Given the description of an element on the screen output the (x, y) to click on. 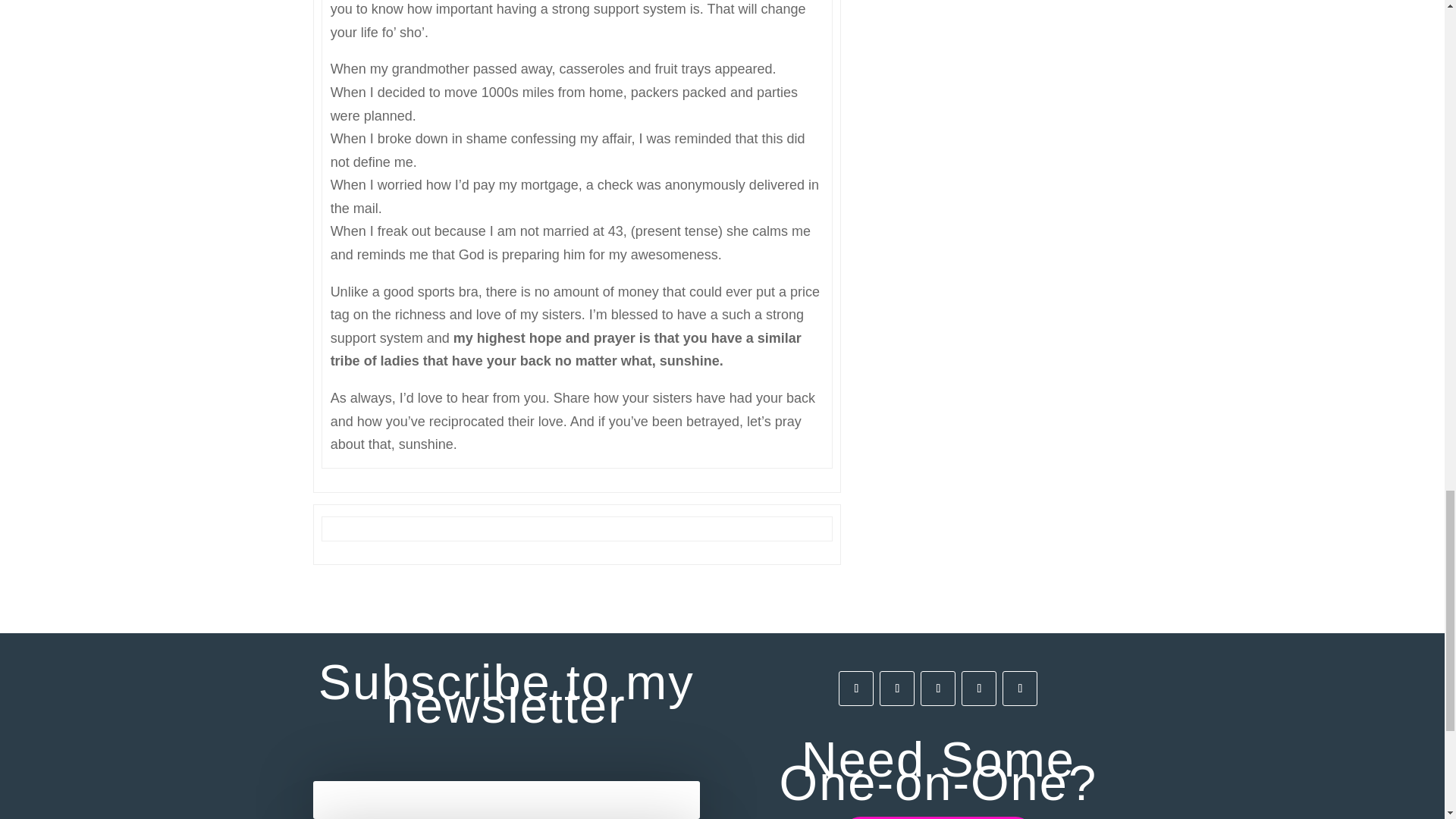
Follow on Facebook (855, 687)
Follow on Twitter (977, 687)
Follow on LinkedIn (937, 687)
Follow on Youtube (1019, 687)
Follow on Instagram (896, 687)
